Given the description of an element on the screen output the (x, y) to click on. 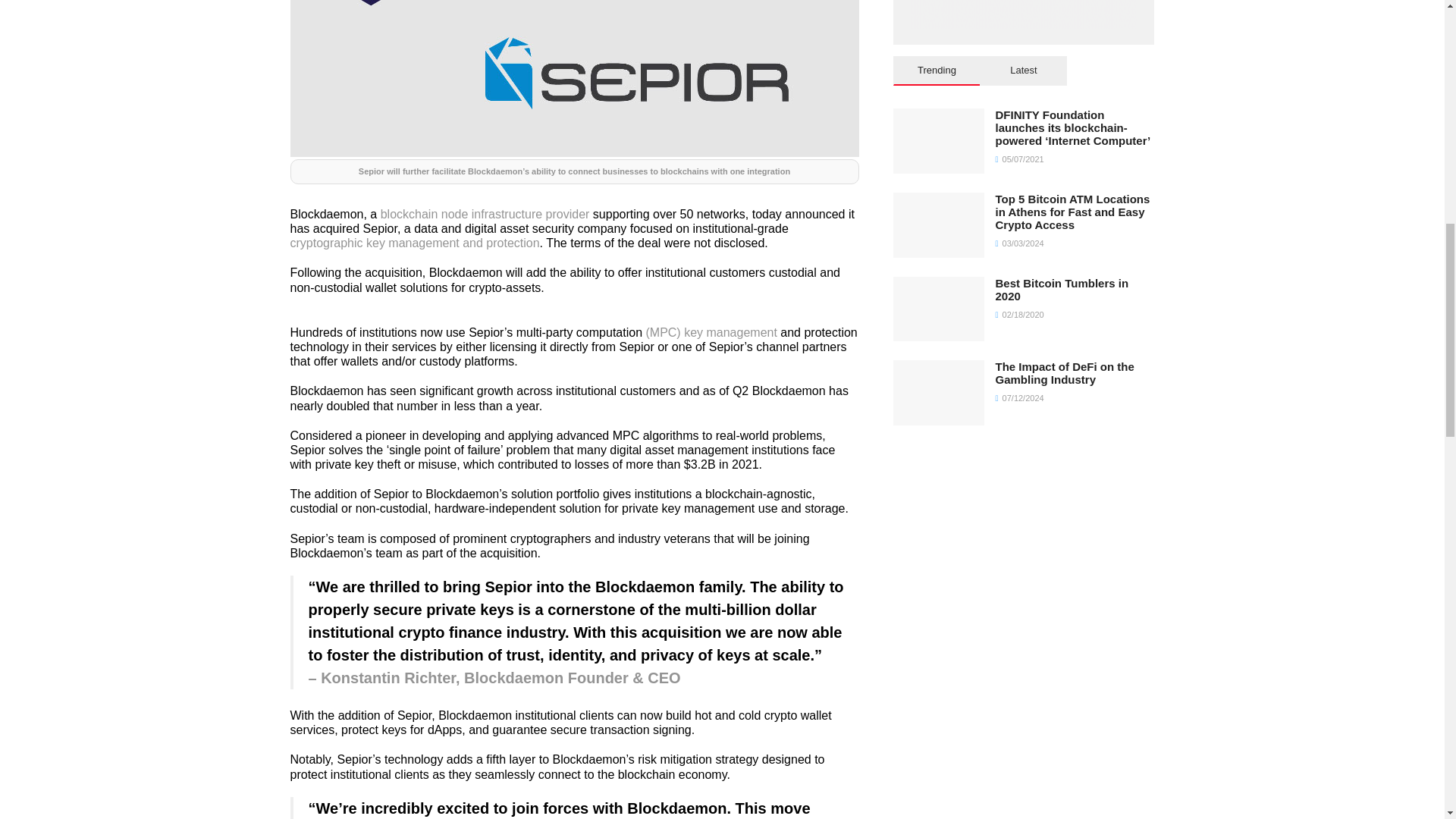
3rd party ad content (1023, 14)
cryptographic key management and protection (413, 242)
blockchain node infrastructure provider (484, 214)
